Given the description of an element on the screen output the (x, y) to click on. 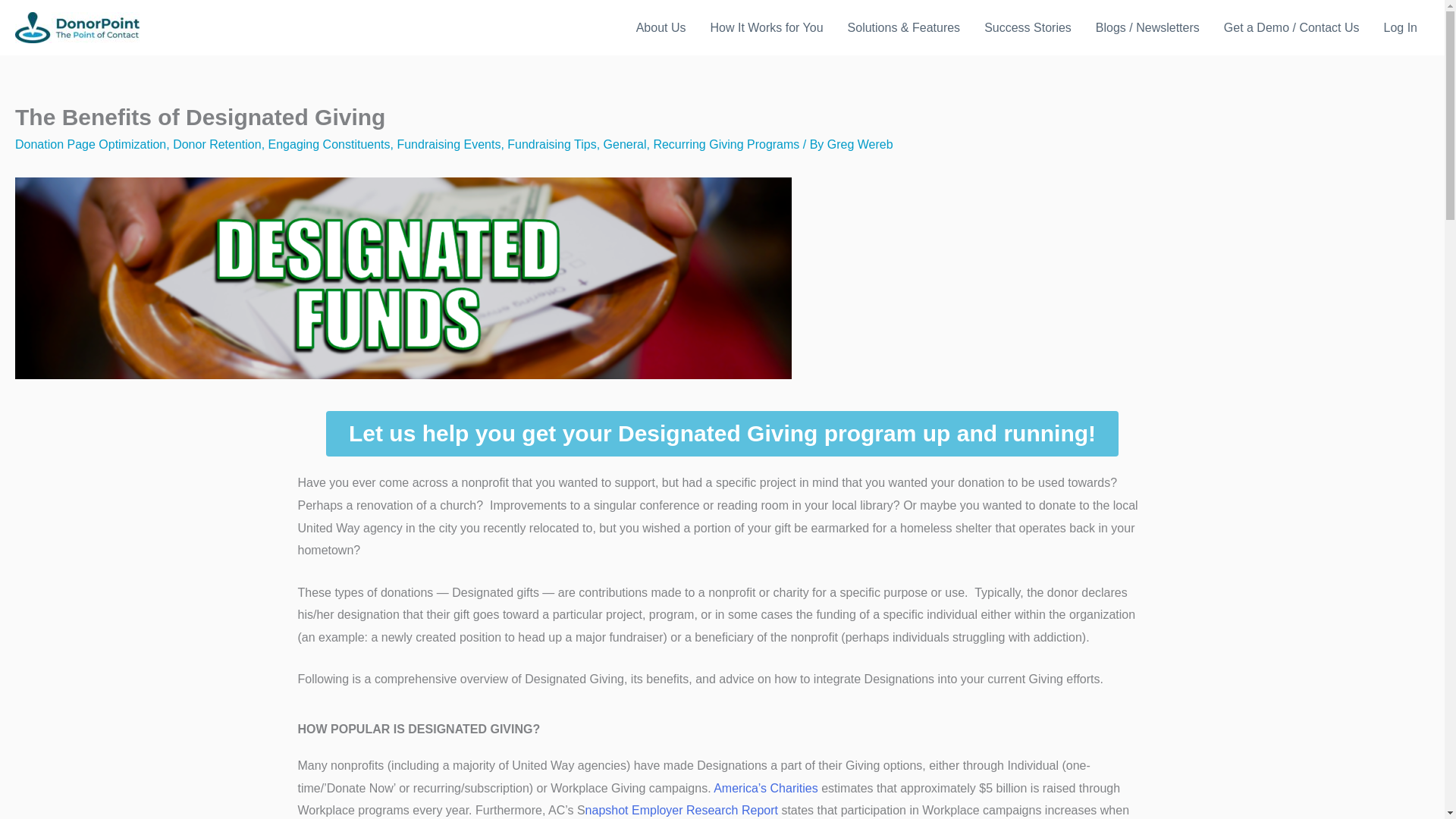
Donor Retention (217, 144)
napshot Employer Research Report (681, 809)
General (625, 144)
Fundraising Events (448, 144)
About Us (661, 27)
Greg Wereb (860, 144)
Log In (1400, 27)
Recurring Giving Programs (725, 144)
Engaging Constituents (328, 144)
